Given the description of an element on the screen output the (x, y) to click on. 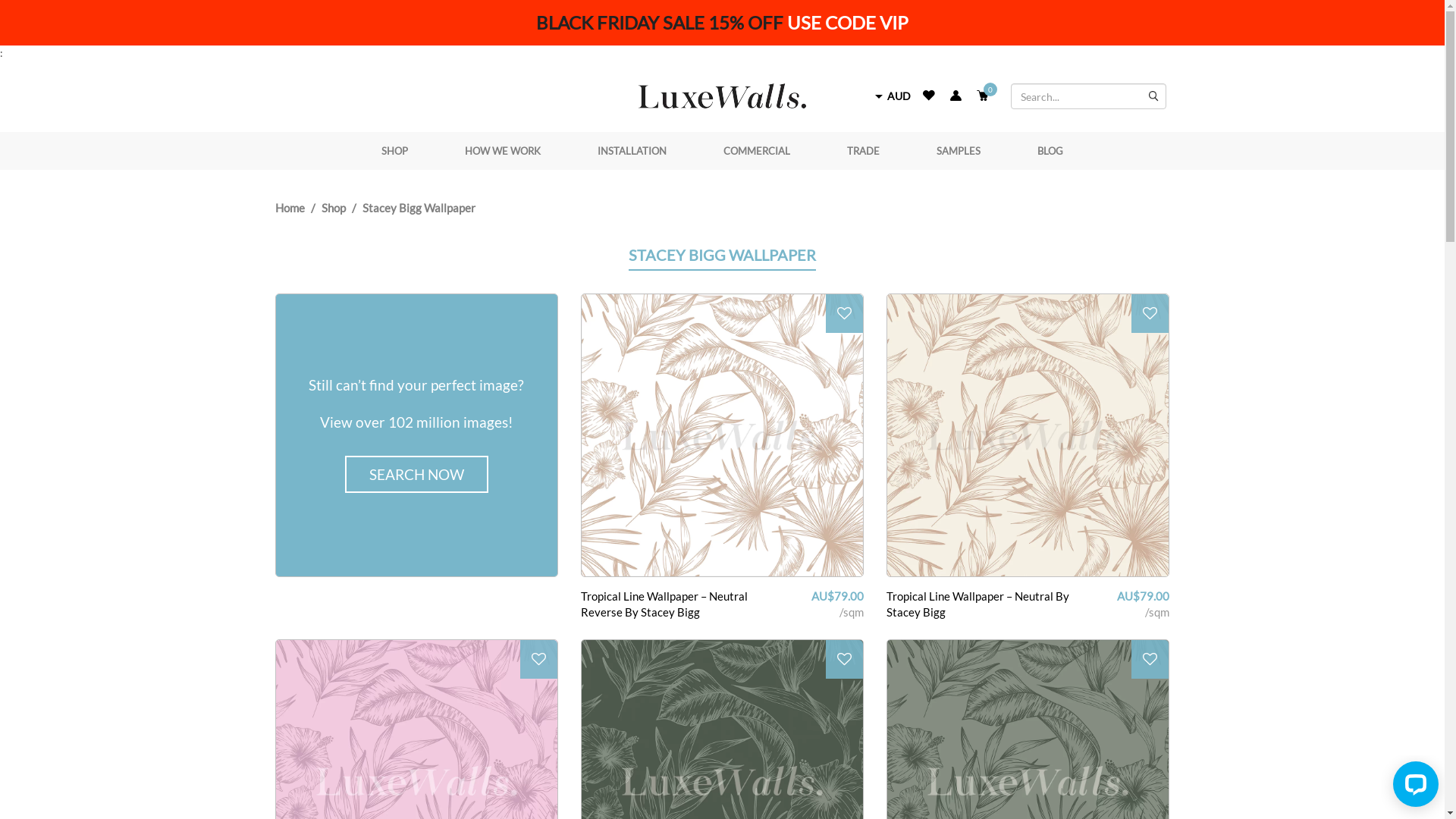
INSTALLATION Element type: text (631, 150)
AUD Element type: text (898, 95)
SHOP Element type: text (394, 150)
SAMPLES Element type: text (958, 150)
Shop Element type: text (333, 207)
Home Element type: text (289, 207)
HOW WE WORK Element type: text (502, 150)
TRADE Element type: text (863, 150)
SEARCH NOW Element type: text (416, 473)
BLOG Element type: text (1050, 150)
COMMERCIAL Element type: text (756, 150)
BLACK FRIDAY SALE 15% OFF USE CODE VIP Element type: text (722, 22)
